Given the description of an element on the screen output the (x, y) to click on. 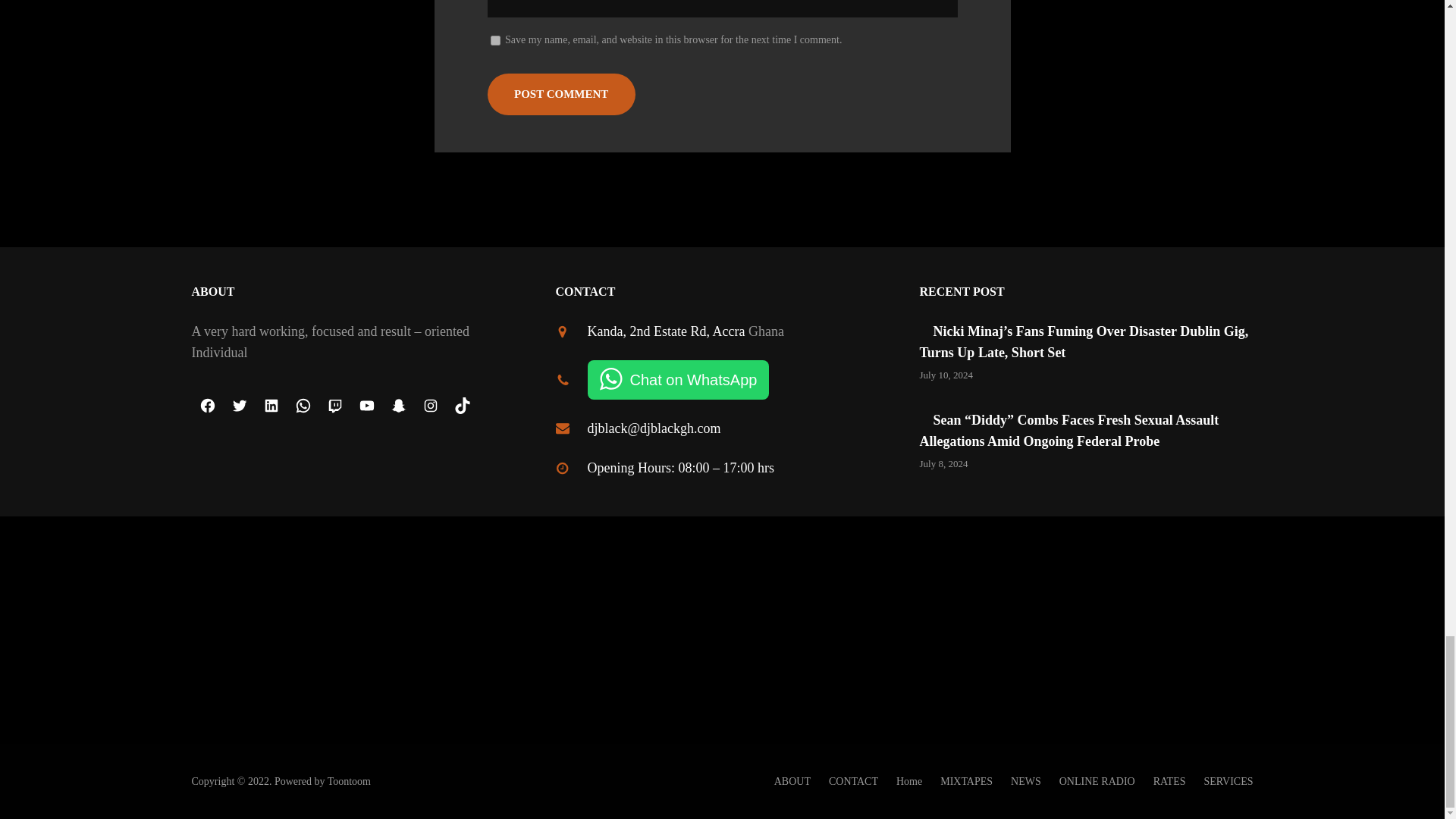
Post Comment (560, 94)
Twitch (334, 405)
Chat on WhatsApp (677, 379)
Snapchat (397, 405)
LinkedIn (270, 405)
TikTok (461, 405)
Post Comment (560, 94)
Facebook (206, 405)
Instagram (429, 405)
YouTube (365, 405)
Kanda, 2nd Estate Rd, Accra (665, 331)
Twitter (238, 405)
WhatsApp (302, 405)
